Given the description of an element on the screen output the (x, y) to click on. 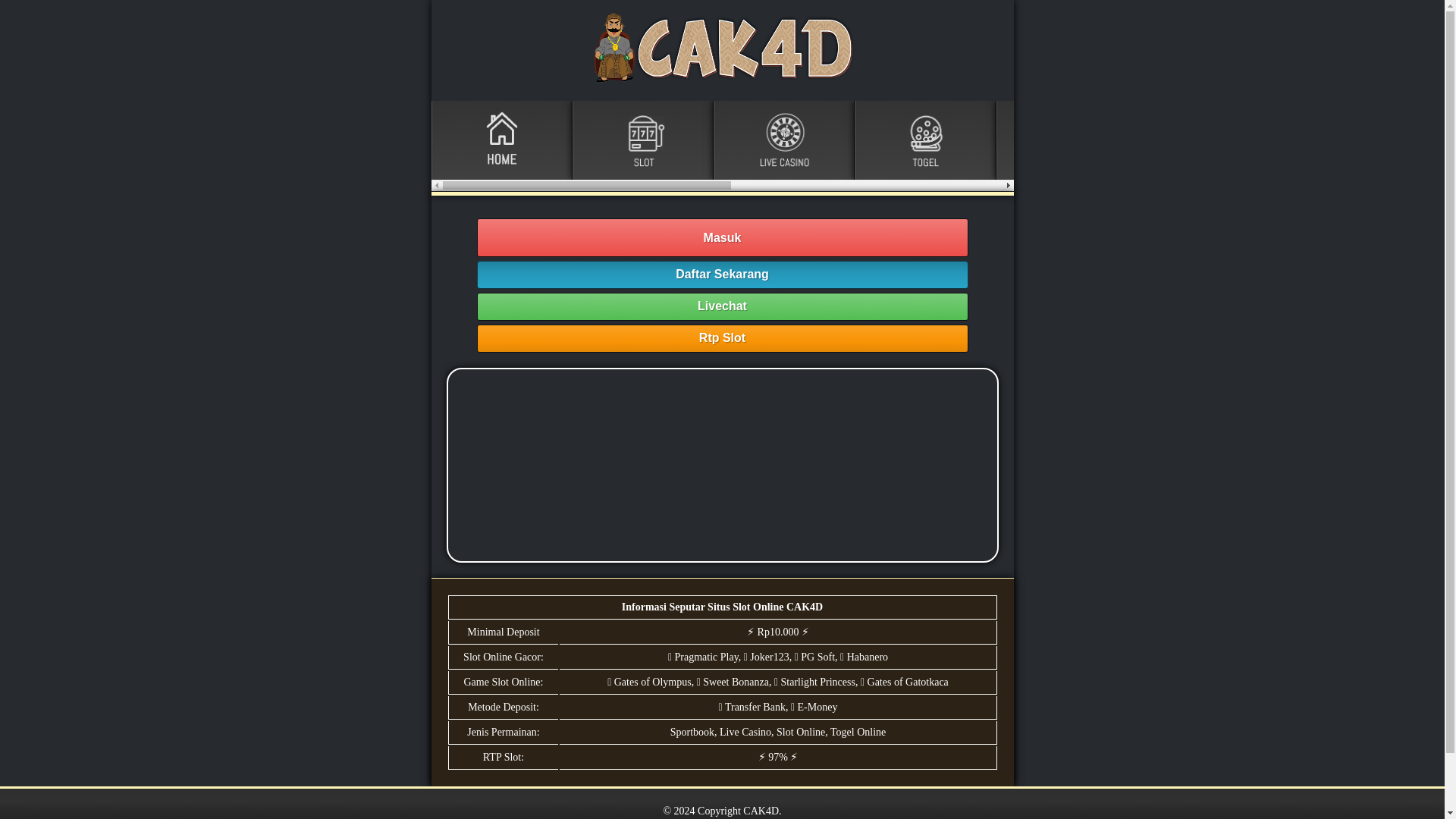
Rtp Slot (722, 338)
situs judi slot online gacor 2023 (720, 465)
Daftar Sekarang (722, 275)
Masuk (722, 237)
Livechat (722, 306)
